Given the description of an element on the screen output the (x, y) to click on. 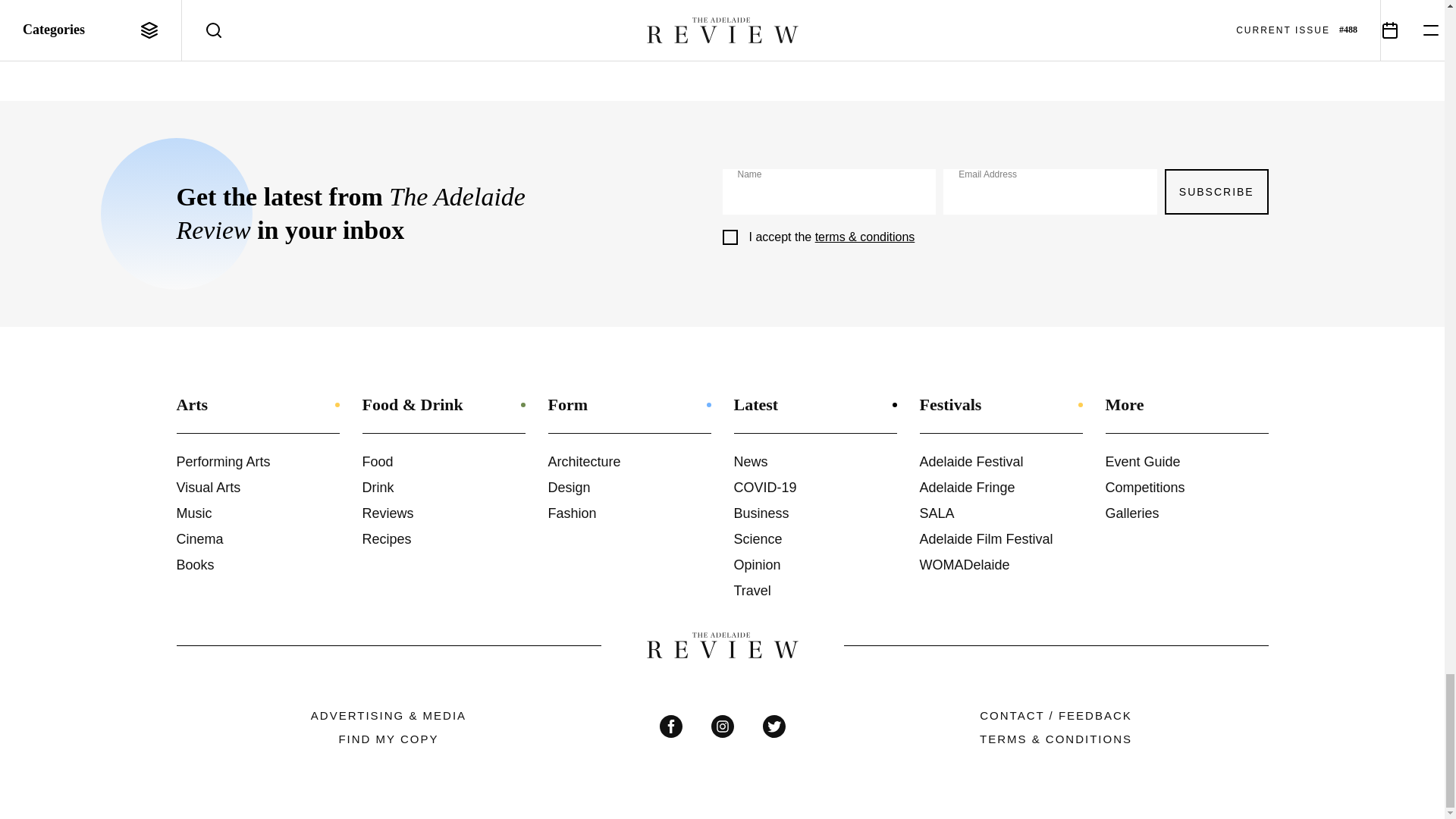
Facebook (670, 726)
Instagram (721, 726)
Twitter (773, 726)
